Given the description of an element on the screen output the (x, y) to click on. 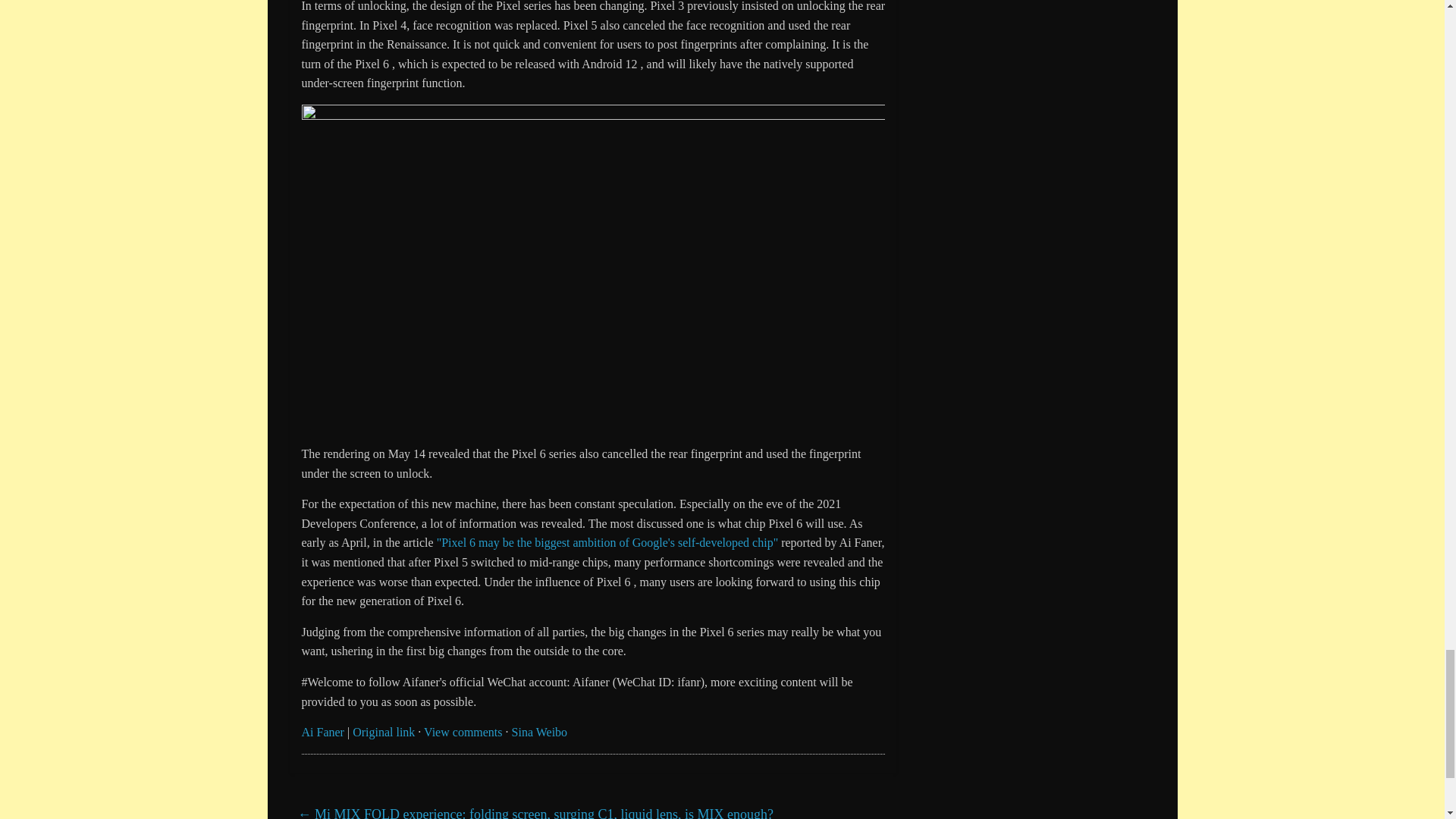
Original link (383, 731)
Sina Weibo (539, 731)
View comments (462, 731)
Ai Faner (322, 731)
